Given the description of an element on the screen output the (x, y) to click on. 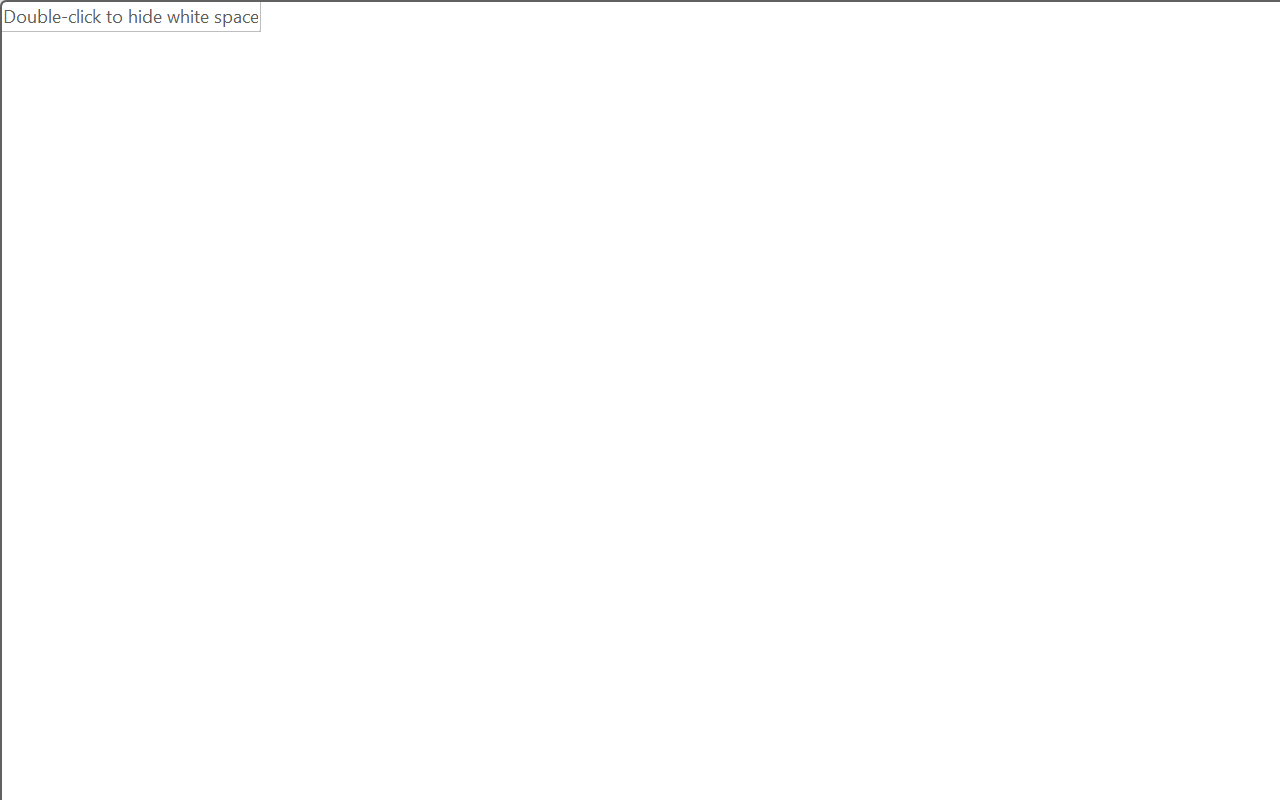
Repeat Paste Option (341, 35)
